Given the description of an element on the screen output the (x, y) to click on. 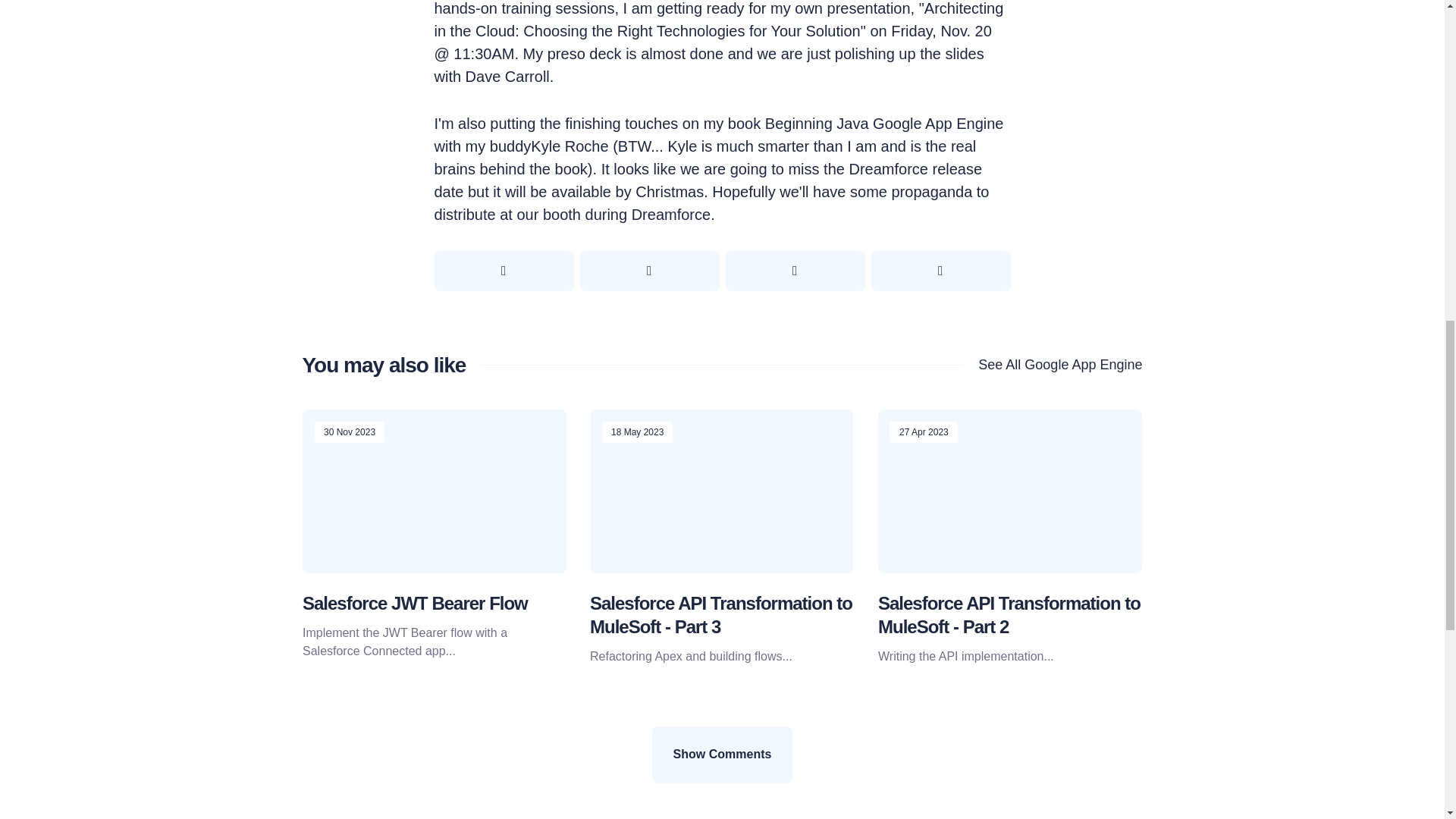
working at the two hands-on training sessions (698, 9)
Share on LinkedIn (940, 270)
Salesforce API Transformation to MuleSoft - Part 3 (720, 614)
Share on Pinterest (794, 270)
Beginning Java Google App Engine (884, 123)
Kyle Roche (569, 146)
Share on Facebook (649, 270)
Dreamforce (670, 214)
Salesforce API Transformation to MuleSoft - Part 2 (1008, 614)
See All Google App Engine (1051, 364)
